Given the description of an element on the screen output the (x, y) to click on. 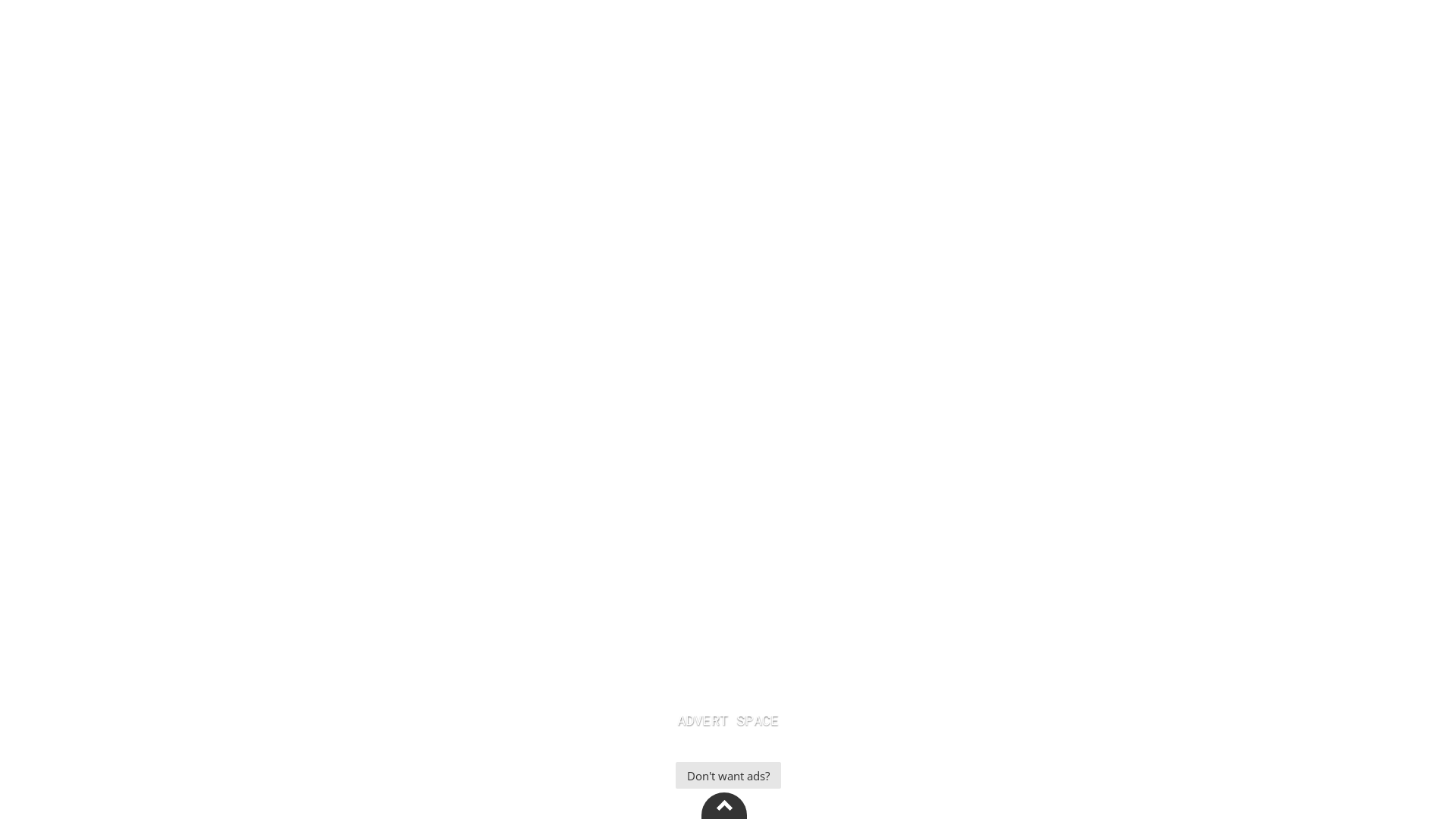
Advertisement Element type: hover (727, 708)
Don't want ads? Element type: text (727, 775)
